Given the description of an element on the screen output the (x, y) to click on. 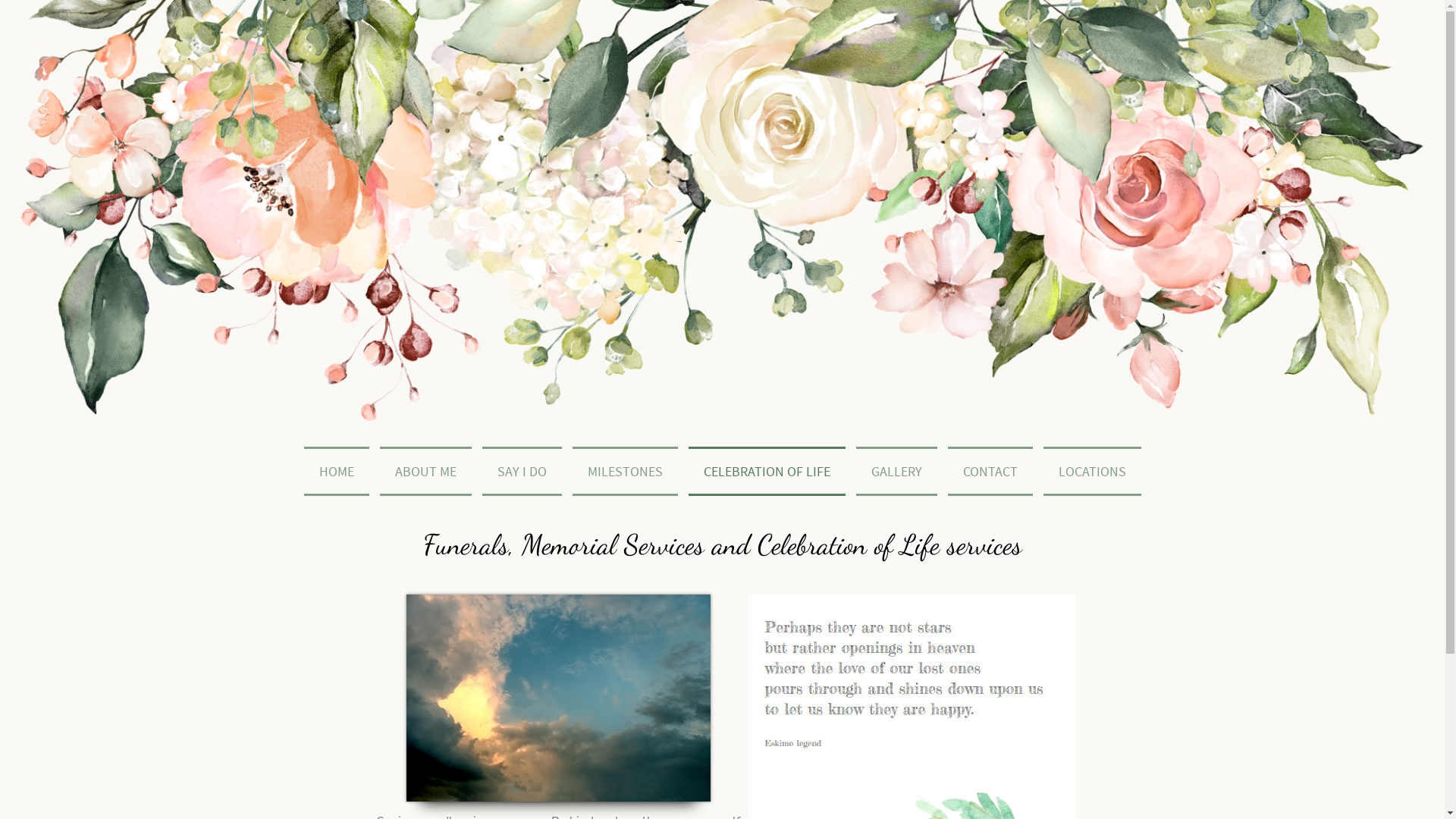
CELEBRATION OF LIFE Element type: text (766, 471)
ABOUT ME Element type: text (425, 471)
GALLERY Element type: text (896, 471)
SAY I DO Element type: text (520, 471)
MILESTONES Element type: text (624, 471)
HOME Element type: text (336, 471)
CONTACT Element type: text (989, 471)
LOCATIONS Element type: text (1091, 471)
